Given the description of an element on the screen output the (x, y) to click on. 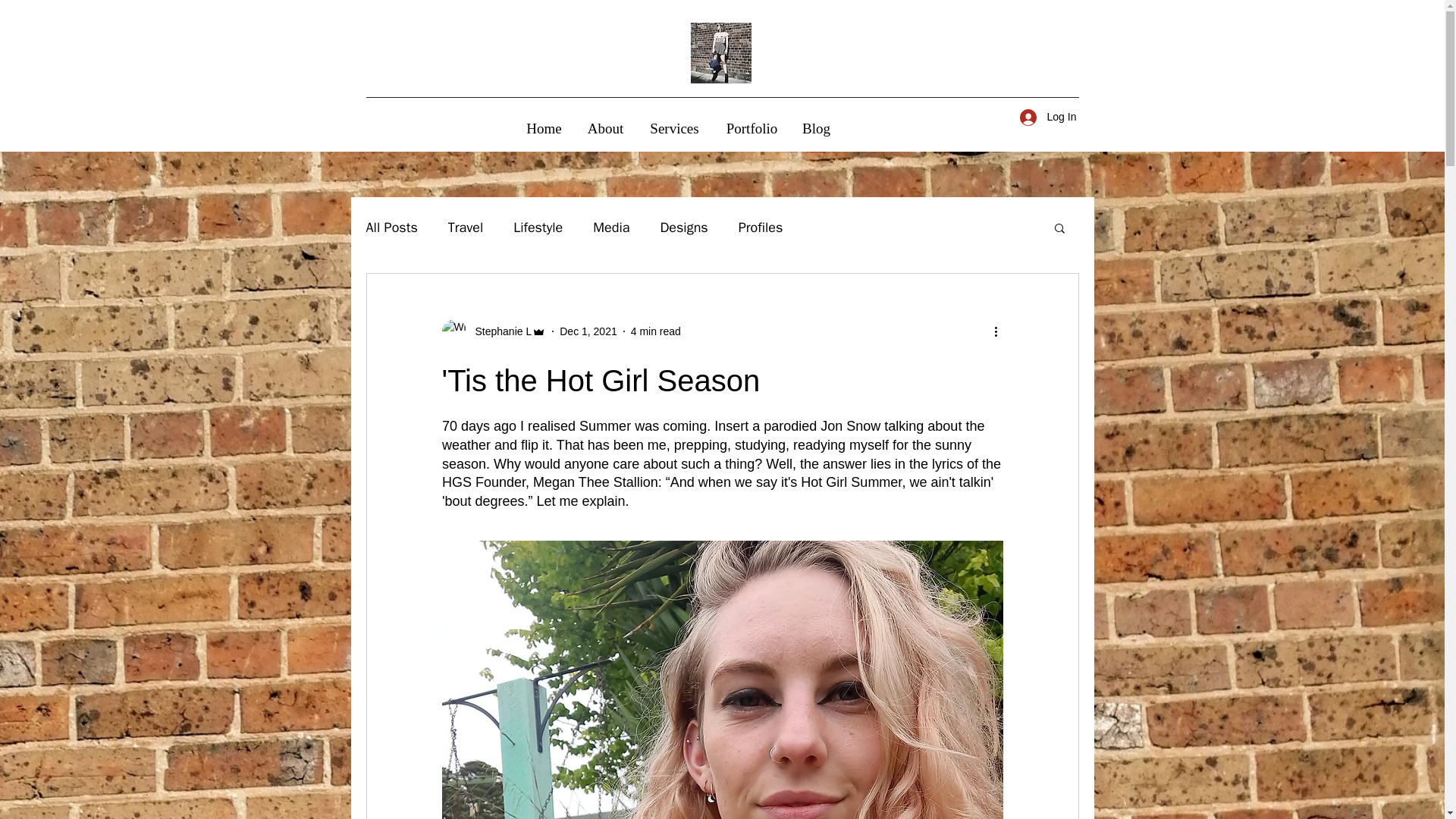
Services (674, 128)
Travel (465, 227)
About (605, 128)
Stephanie L (493, 331)
Dec 1, 2021 (588, 330)
Stephanie L (498, 330)
Lifestyle (537, 227)
Home (544, 128)
Media (610, 227)
Portfolio (751, 128)
Designs (683, 227)
Profiles (760, 227)
Log In (1043, 117)
All Posts (390, 227)
4 min read (655, 330)
